Given the description of an element on the screen output the (x, y) to click on. 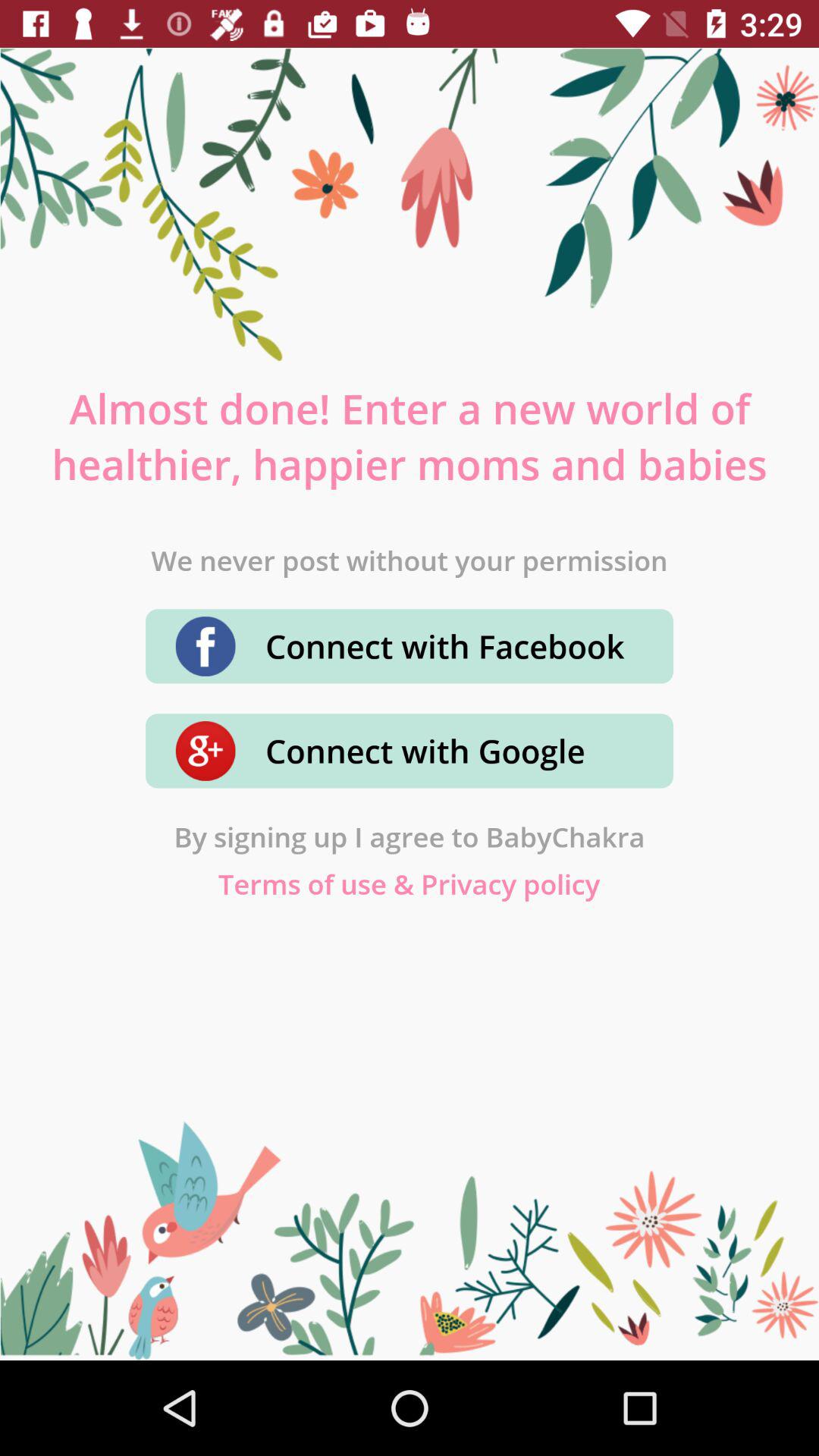
choose icon below the by signing up (409, 883)
